Given the description of an element on the screen output the (x, y) to click on. 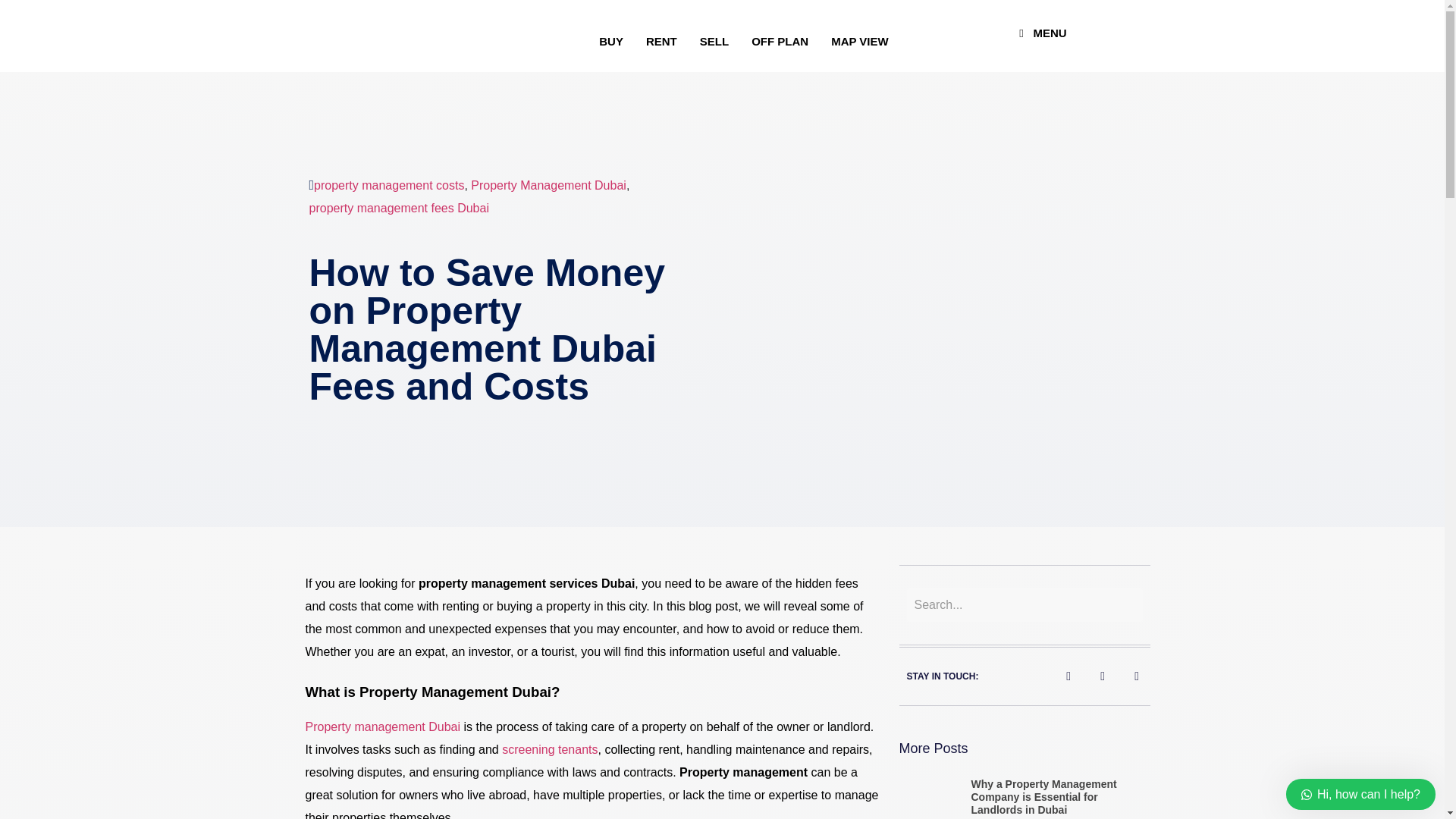
MAP VIEW (859, 41)
Property Management Dubai (548, 185)
screening tenants (549, 748)
Search (1024, 604)
SELL (713, 41)
property management costs (389, 185)
RENT (661, 41)
property management fees Dubai (398, 208)
MENU (1040, 33)
